Given the description of an element on the screen output the (x, y) to click on. 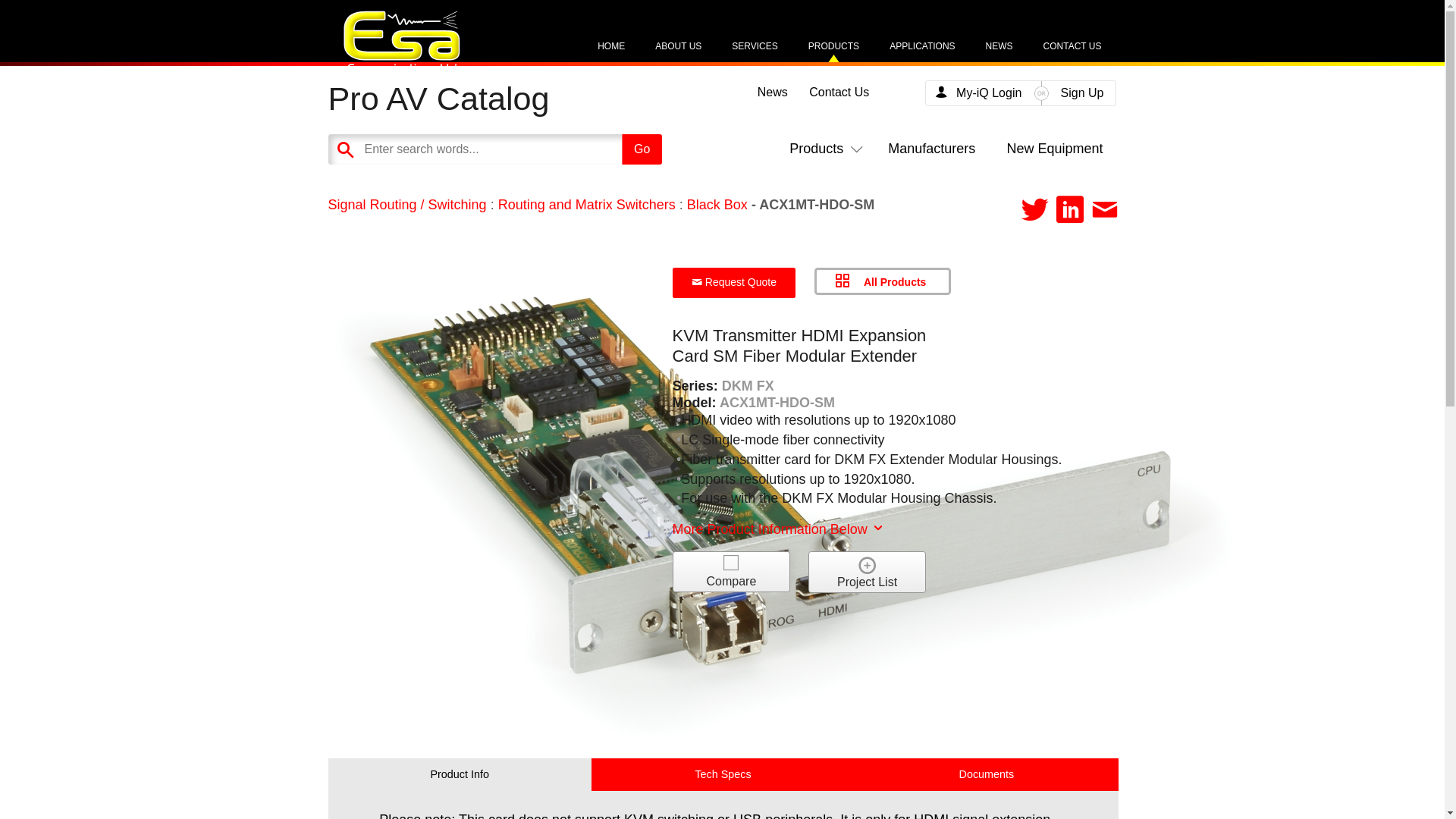
CONTACT US (1072, 51)
Enter search words... (531, 149)
Go (641, 149)
HOME (610, 51)
ABOUT US (678, 51)
Go (641, 149)
Esa Communications Ltd (401, 68)
PRODUCTS (833, 51)
SERVICES (754, 51)
NEWS (999, 51)
APPLICATIONS (922, 51)
